Given the description of an element on the screen output the (x, y) to click on. 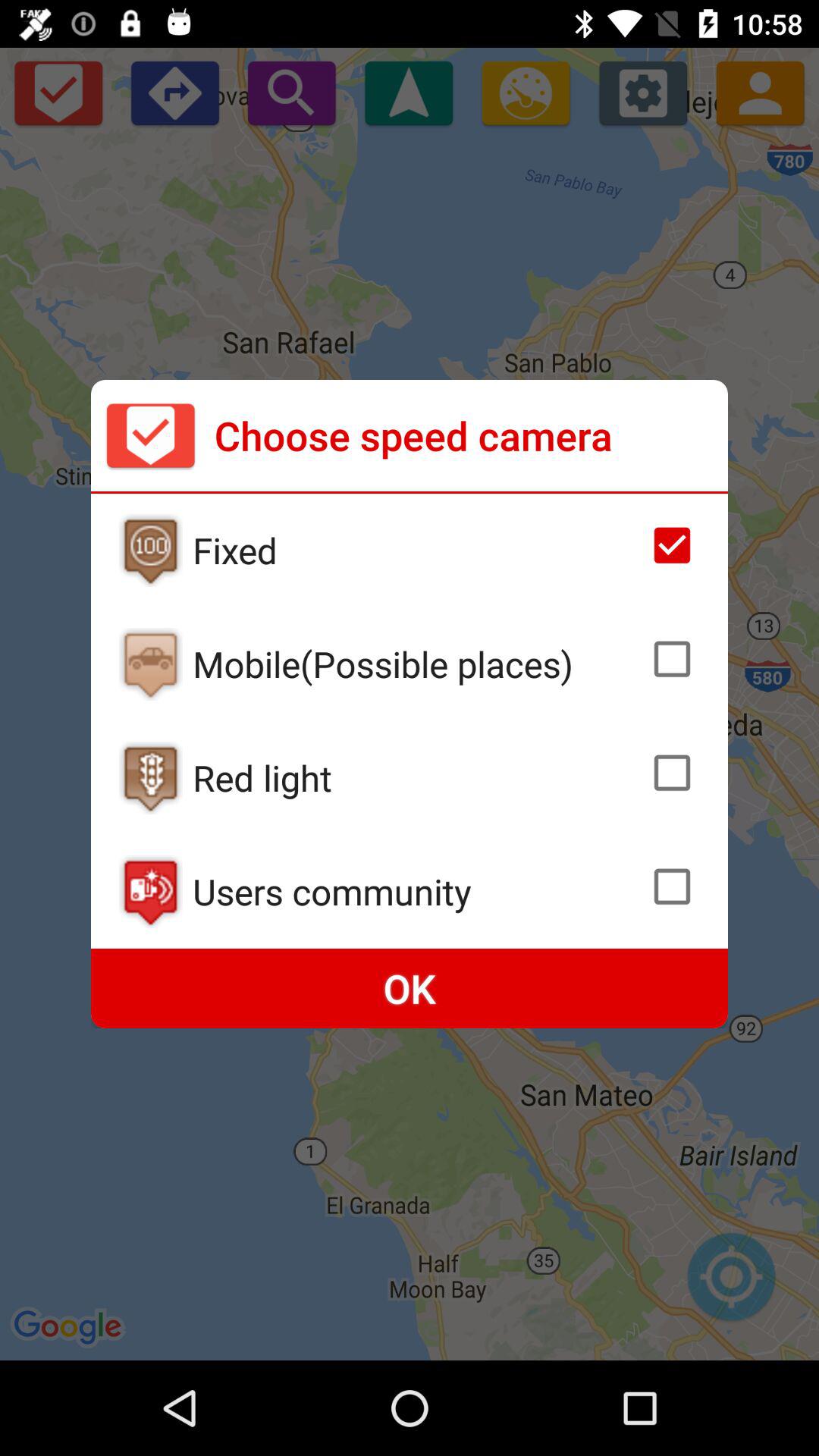
fixed option (672, 545)
